Given the description of an element on the screen output the (x, y) to click on. 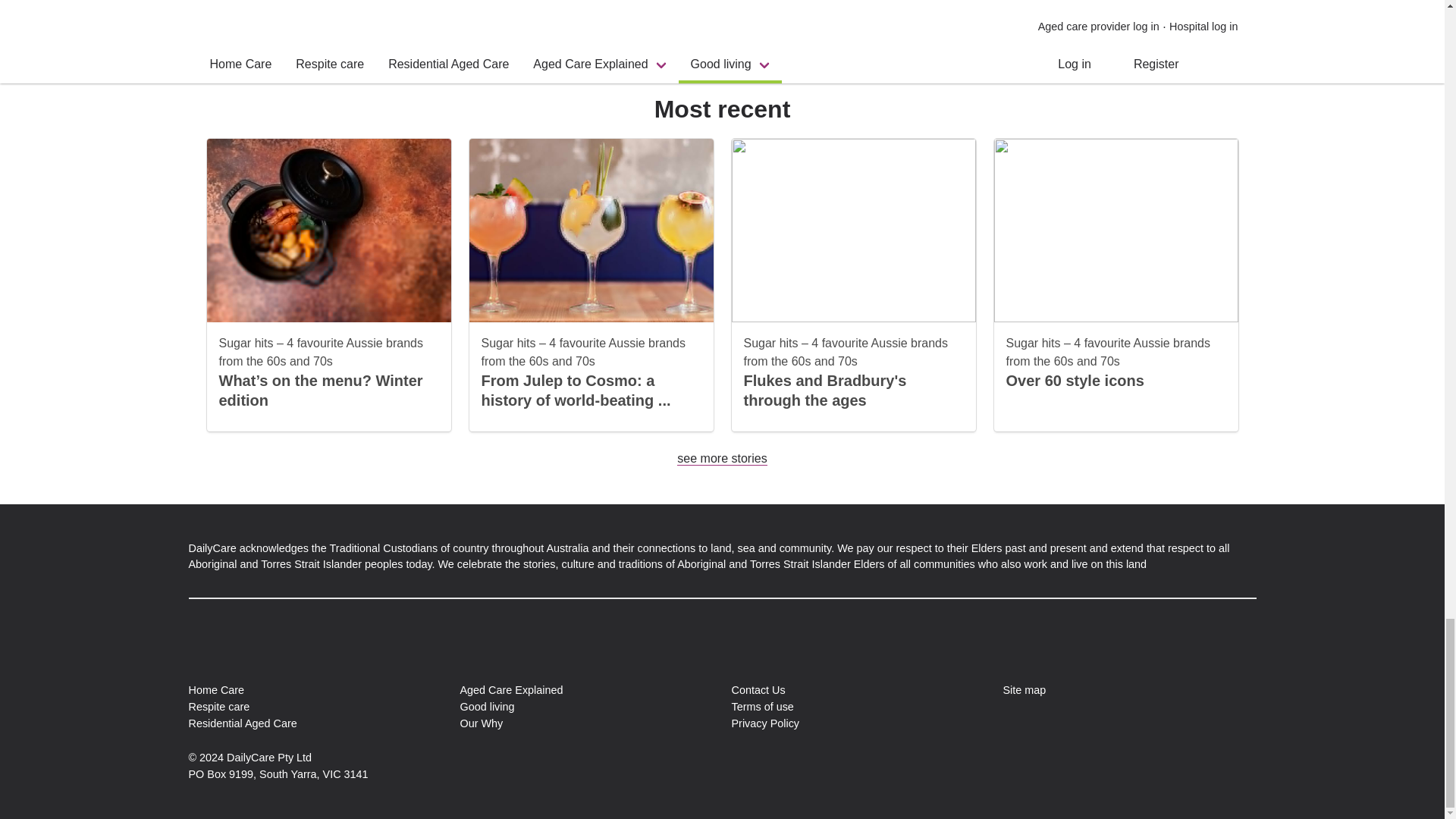
Over 60 style icons (1074, 380)
From Julep to Cosmo: a history of world-beating cocktails (574, 390)
Flukes and Bradbury's through the ages (823, 390)
From Julep to Cosmo: a history of world-beating ... (574, 390)
Flukes and Bradbury's through the ages (823, 390)
